Given the description of an element on the screen output the (x, y) to click on. 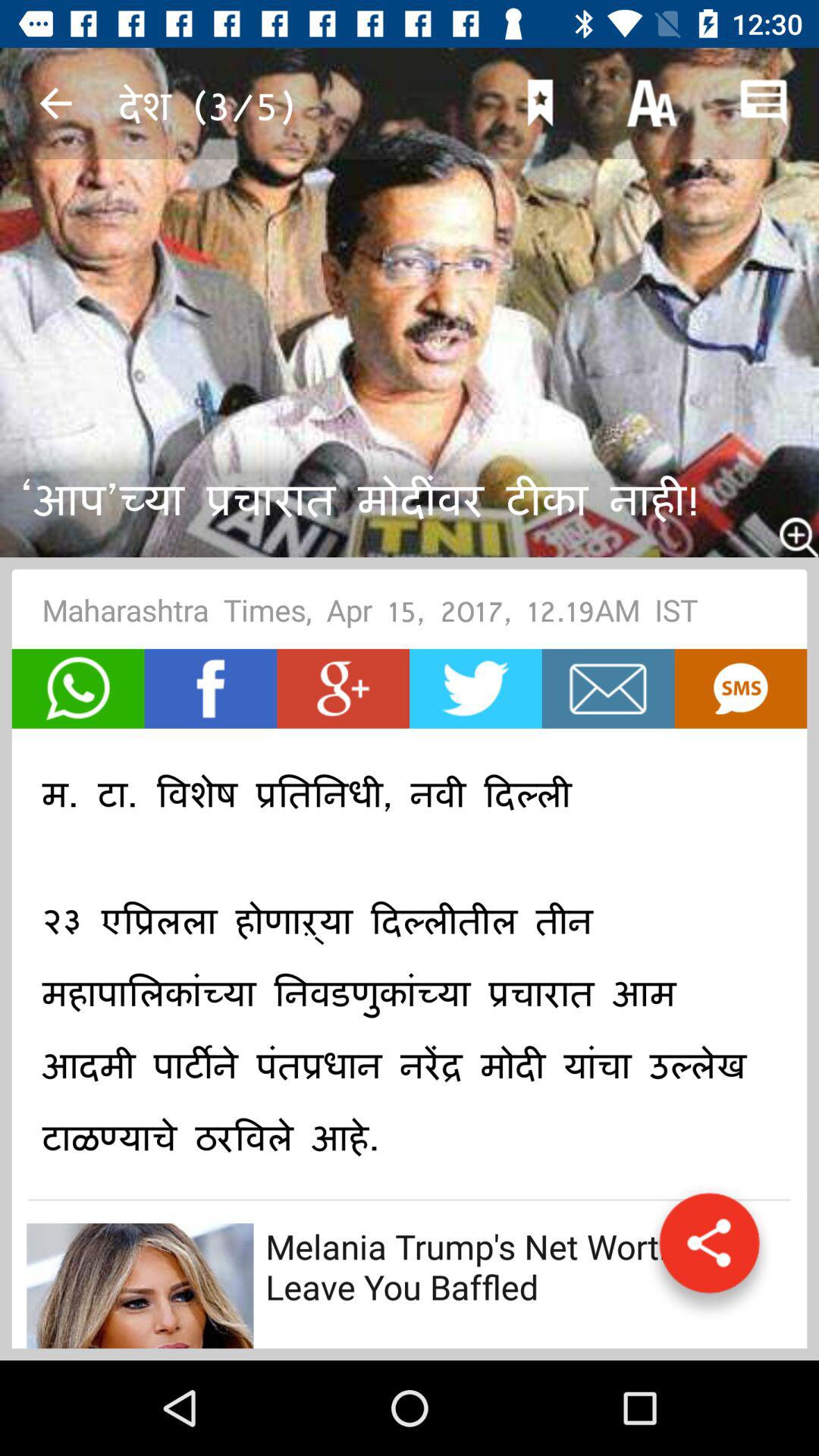
select maharashtra times apr (409, 614)
